Given the description of an element on the screen output the (x, y) to click on. 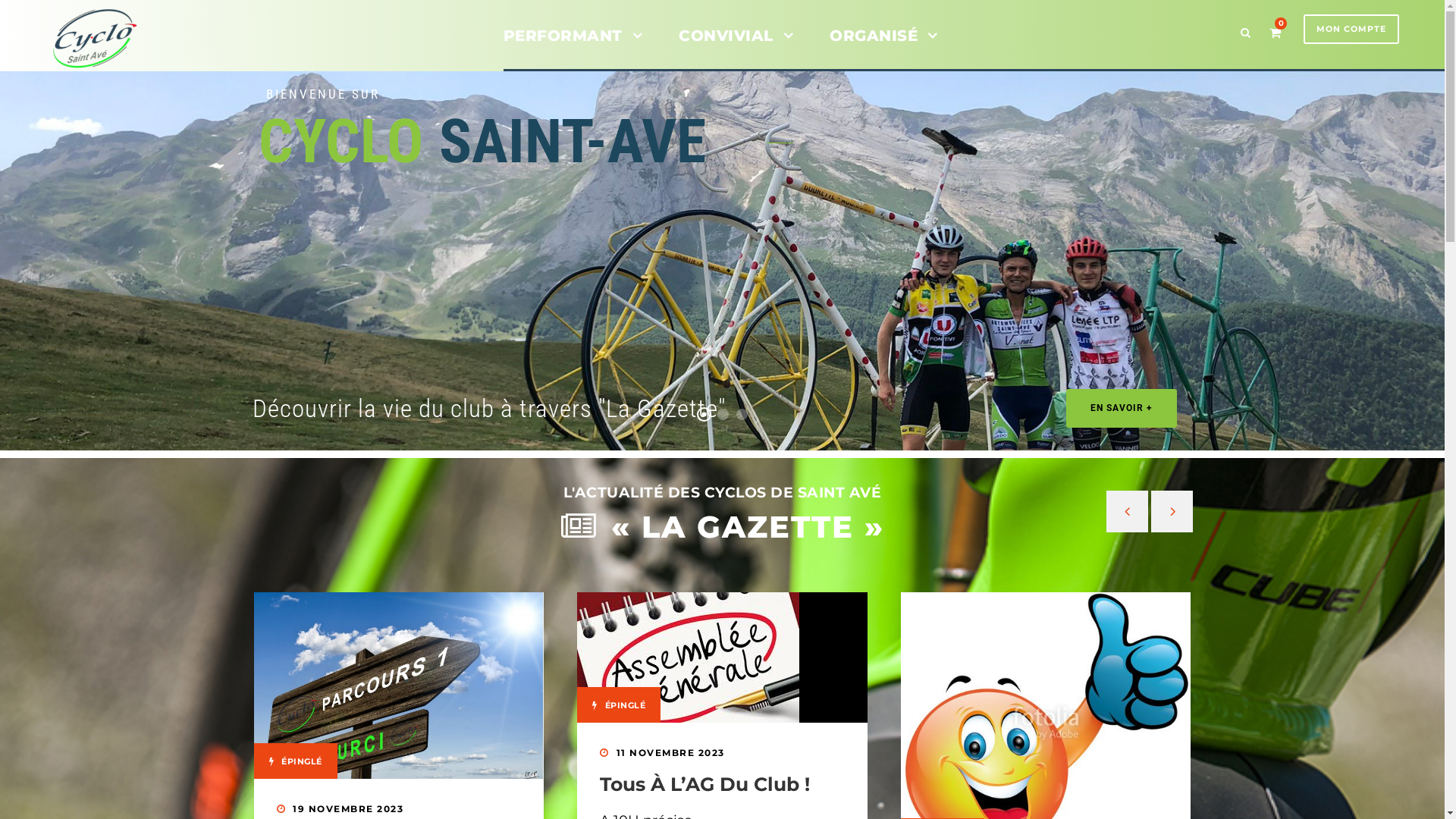
19 NOVEMBRE 2023 Element type: text (347, 808)
parcours-raccourci Element type: hover (398, 685)
19 NOVEMBRE 2023 Element type: text (671, 808)
PERFORMANT Element type: text (573, 46)
MON COMPTE Element type: text (1351, 28)
11 NOVEMBRE 2023 Element type: text (993, 752)
CONVIVIAL Element type: text (735, 46)
assemblee_generale Element type: hover (688, 657)
logo-cyclosaintave Element type: hover (94, 38)
